Given the description of an element on the screen output the (x, y) to click on. 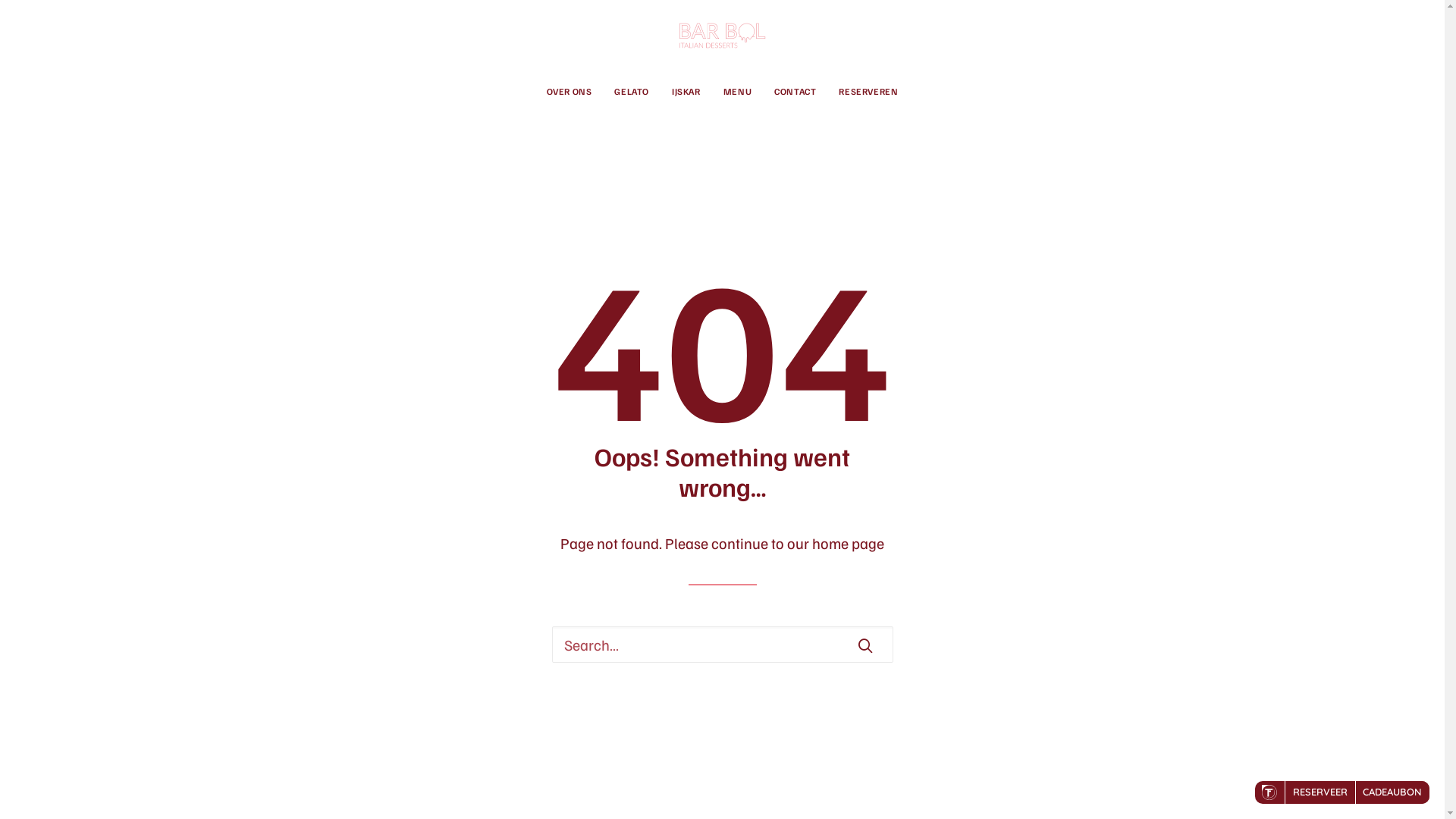
home page Element type: text (848, 542)
Search for: Element type: hover (722, 644)
IJSKAR Element type: text (686, 91)
OVER ONS Element type: text (574, 91)
GELATO Element type: text (631, 91)
RESERVEREN Element type: text (862, 91)
MENU Element type: text (737, 91)
CONTACT Element type: text (794, 91)
